Given the description of an element on the screen output the (x, y) to click on. 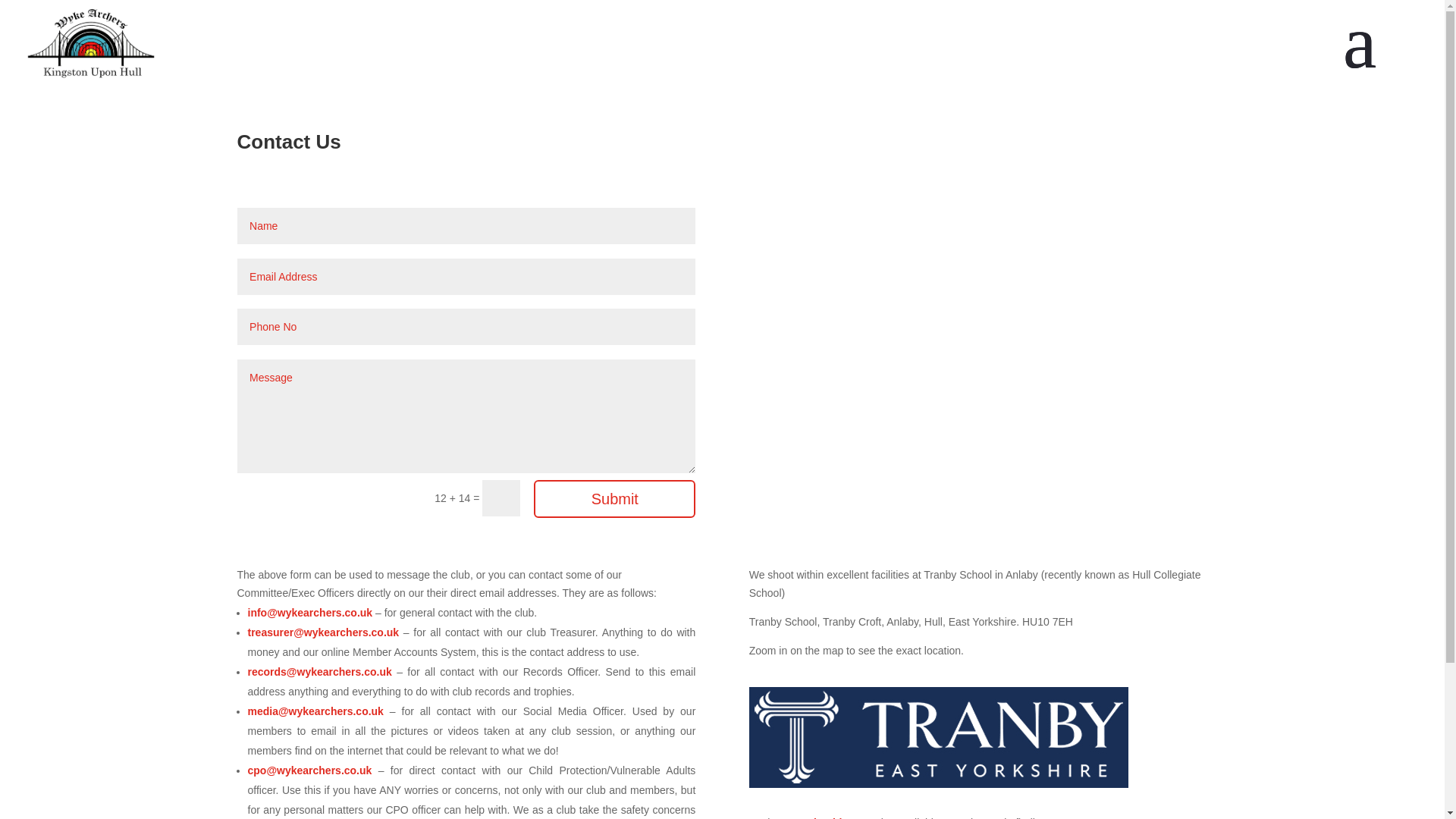
Submit (614, 498)
Printable Map (837, 817)
Tranby Contact Us Logo (938, 737)
